Given the description of an element on the screen output the (x, y) to click on. 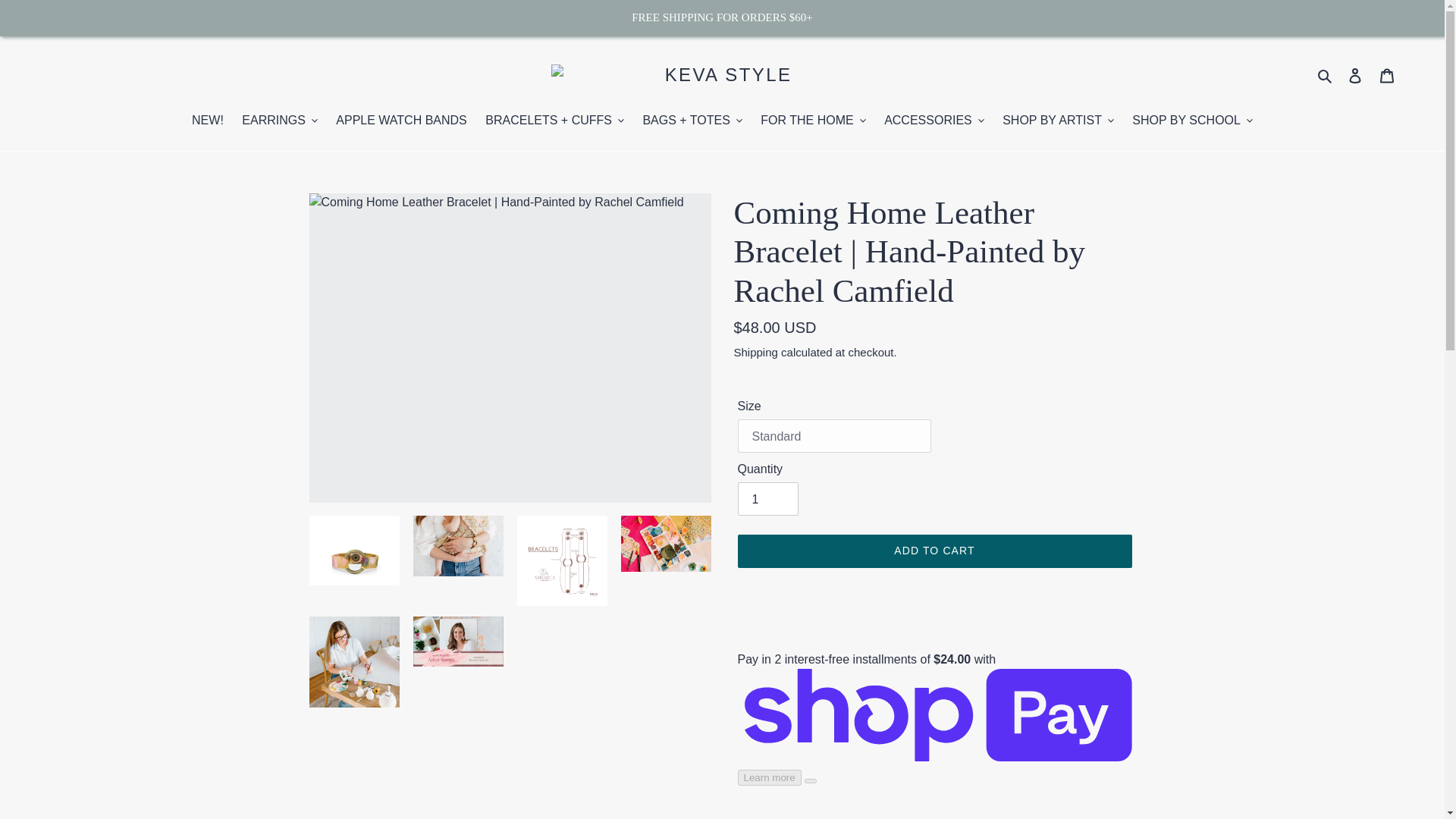
Cart (1387, 75)
Log in (1355, 75)
Search (1326, 75)
1 (766, 498)
